Given the description of an element on the screen output the (x, y) to click on. 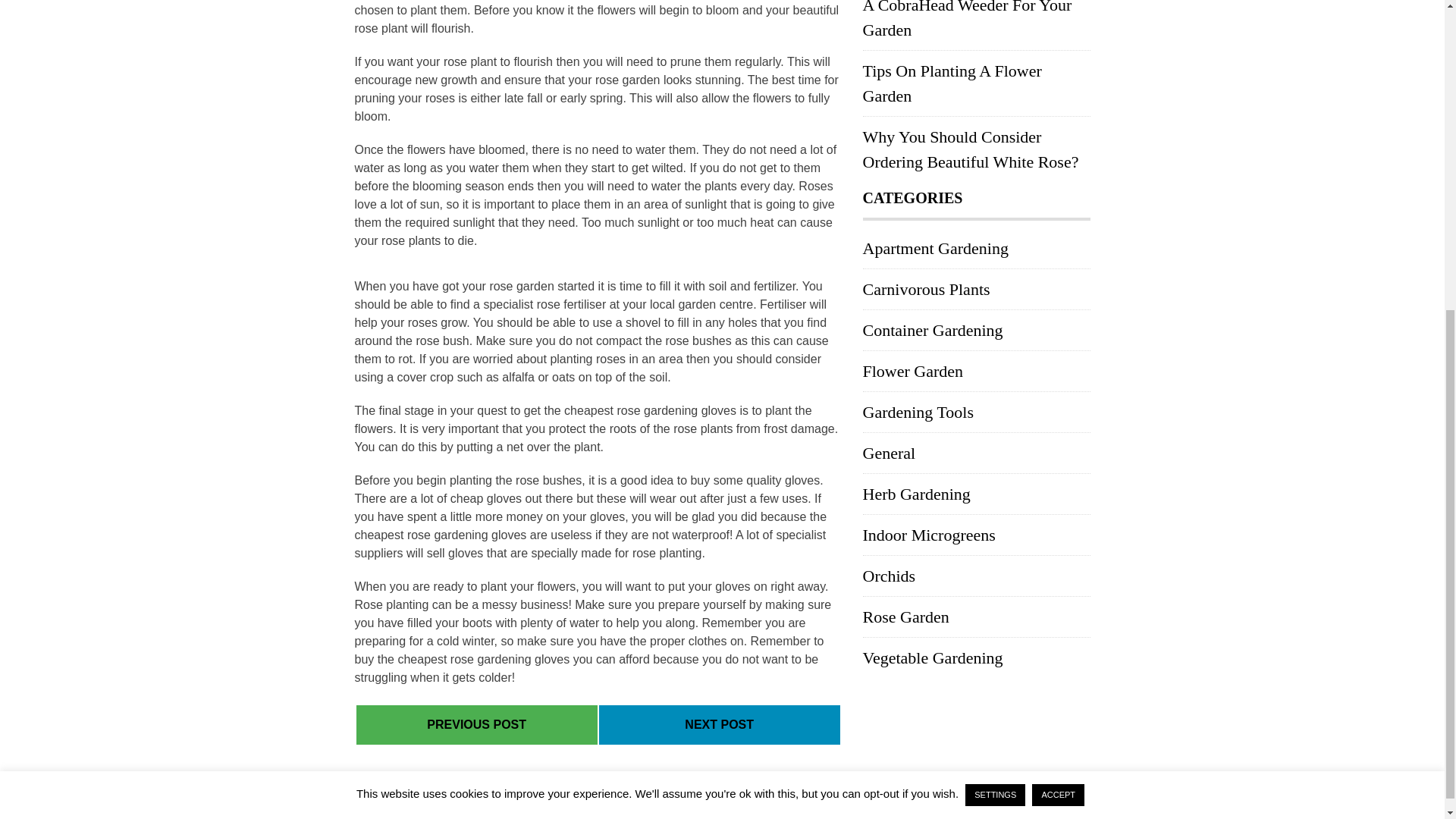
Tips On Planting A Flower Garden (952, 83)
Contact Us (1053, 800)
Carnivorous Plants (926, 289)
NEXT POST (718, 724)
ACCEPT (1058, 292)
Why You Should Consider Ordering Beautiful White Rose? (970, 149)
SETTINGS (995, 292)
Flower Garden (913, 370)
Vegetable Gardening (933, 657)
Apartment Gardening (936, 248)
